Given the description of an element on the screen output the (x, y) to click on. 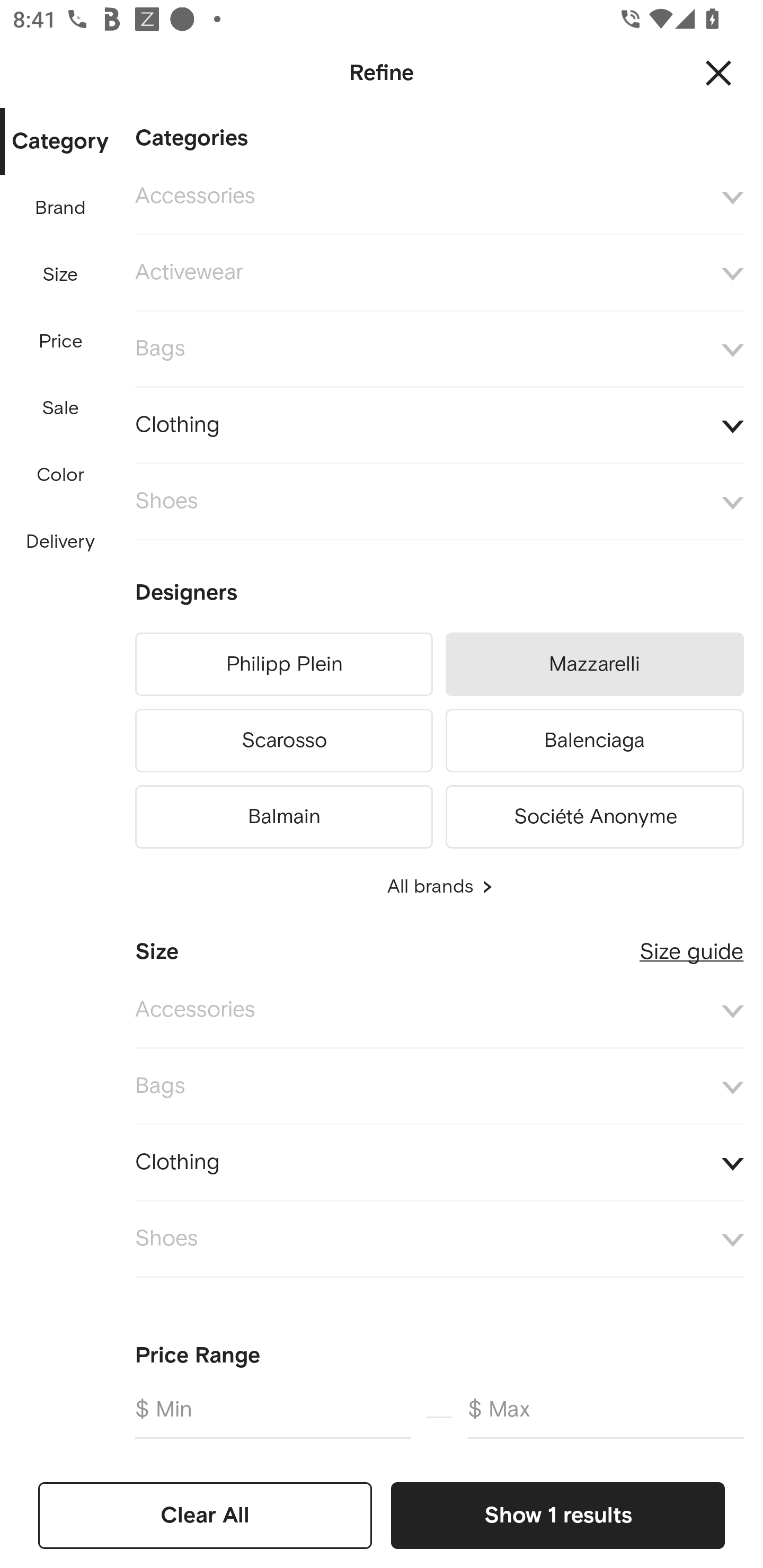
Category (60, 141)
Accessories (439, 196)
Brand (60, 208)
Activewear (439, 272)
Size (60, 274)
Price (60, 342)
Bags (439, 348)
Sale (60, 408)
Clothing (439, 425)
Color (60, 475)
Shoes (439, 501)
Delivery (60, 542)
Philipp Plein (283, 663)
Mazzarelli (594, 663)
Scarosso (283, 740)
Balenciaga (594, 740)
Balmain (283, 813)
Société Anonyme (594, 813)
All brands (439, 886)
Size guide (691, 944)
Accessories (439, 1010)
Bags (439, 1086)
Clothing (439, 1162)
Shoes (439, 1239)
$ Min (272, 1416)
$ Max (605, 1416)
Clear All (205, 1515)
Show 1 results (557, 1515)
